Given the description of an element on the screen output the (x, y) to click on. 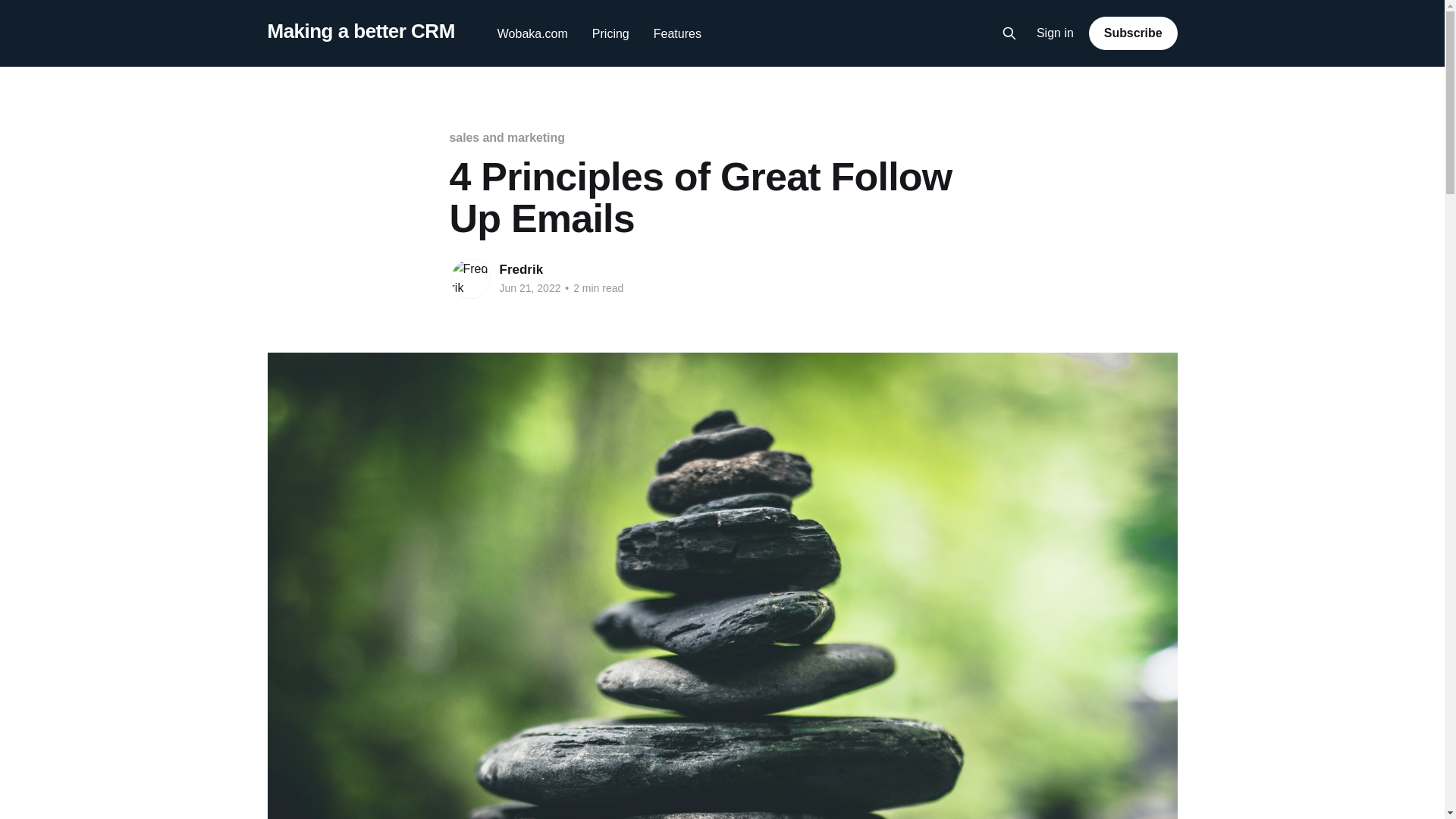
Making a better CRM (360, 31)
Pricing (610, 33)
Wobaka.com (532, 33)
sales and marketing (506, 137)
Subscribe (1133, 32)
Features (677, 33)
Fredrik (521, 269)
Sign in (1055, 33)
